Given the description of an element on the screen output the (x, y) to click on. 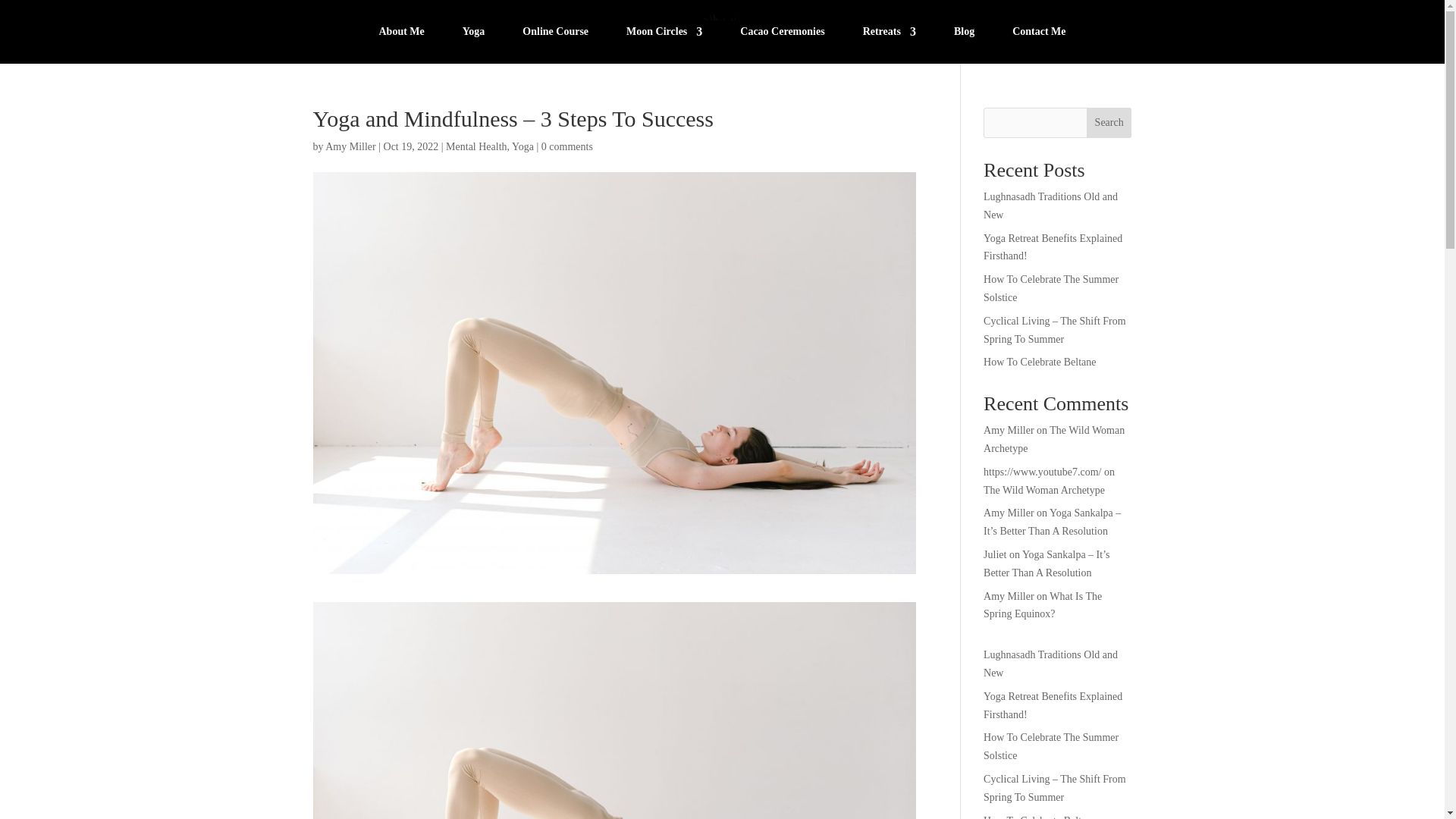
Yoga Retreat Benefits Explained Firsthand! (1053, 247)
Search (1109, 122)
Yoga (523, 146)
How To Celebrate The Summer Solstice (1051, 288)
Lughnasadh Traditions Old and New (1051, 205)
About Me (400, 34)
Blog (963, 34)
Mental Health (475, 146)
Yoga (473, 34)
0 comments (566, 146)
